Given the description of an element on the screen output the (x, y) to click on. 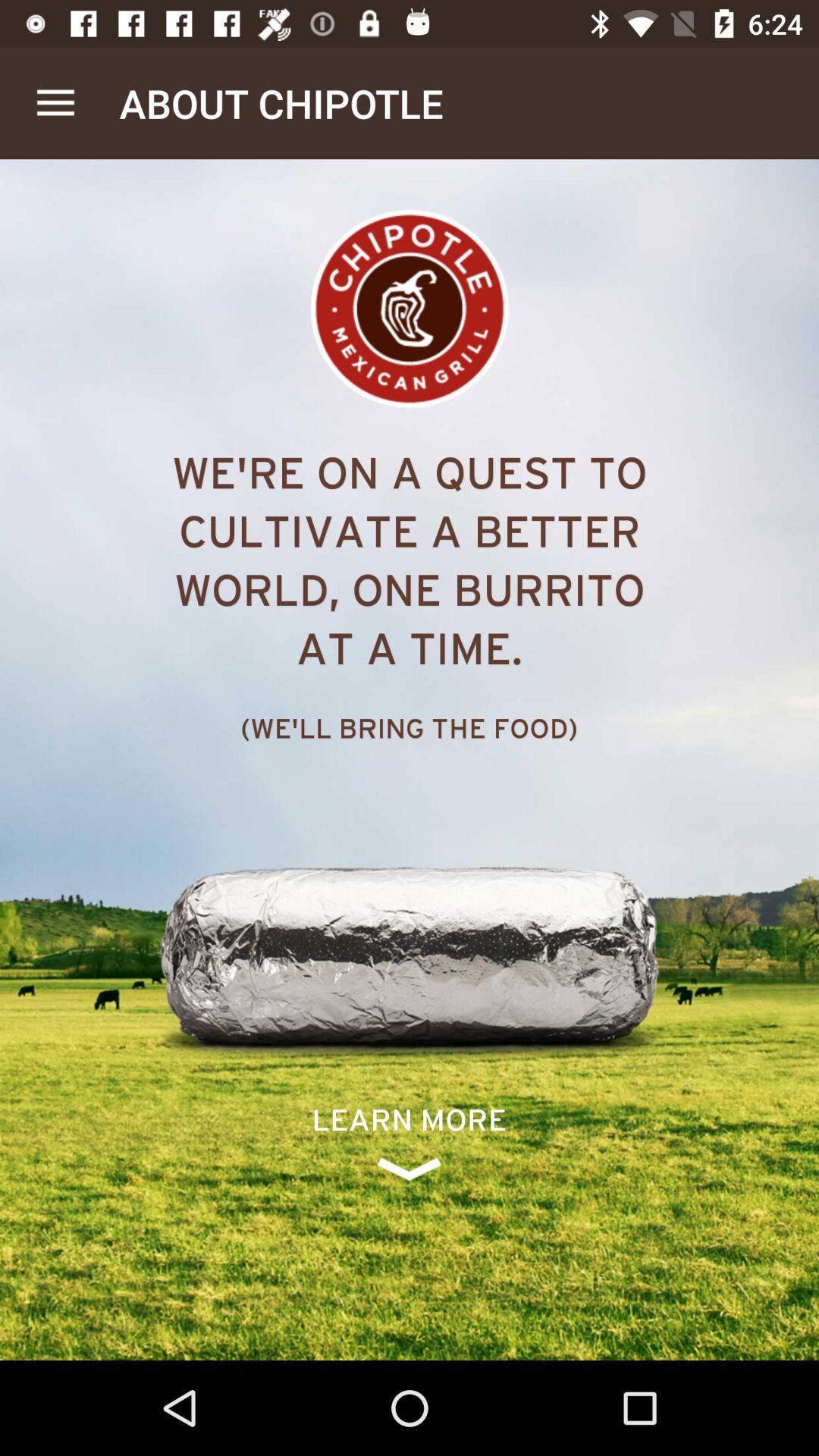
press icon below the we ll bring icon (408, 1141)
